Given the description of an element on the screen output the (x, y) to click on. 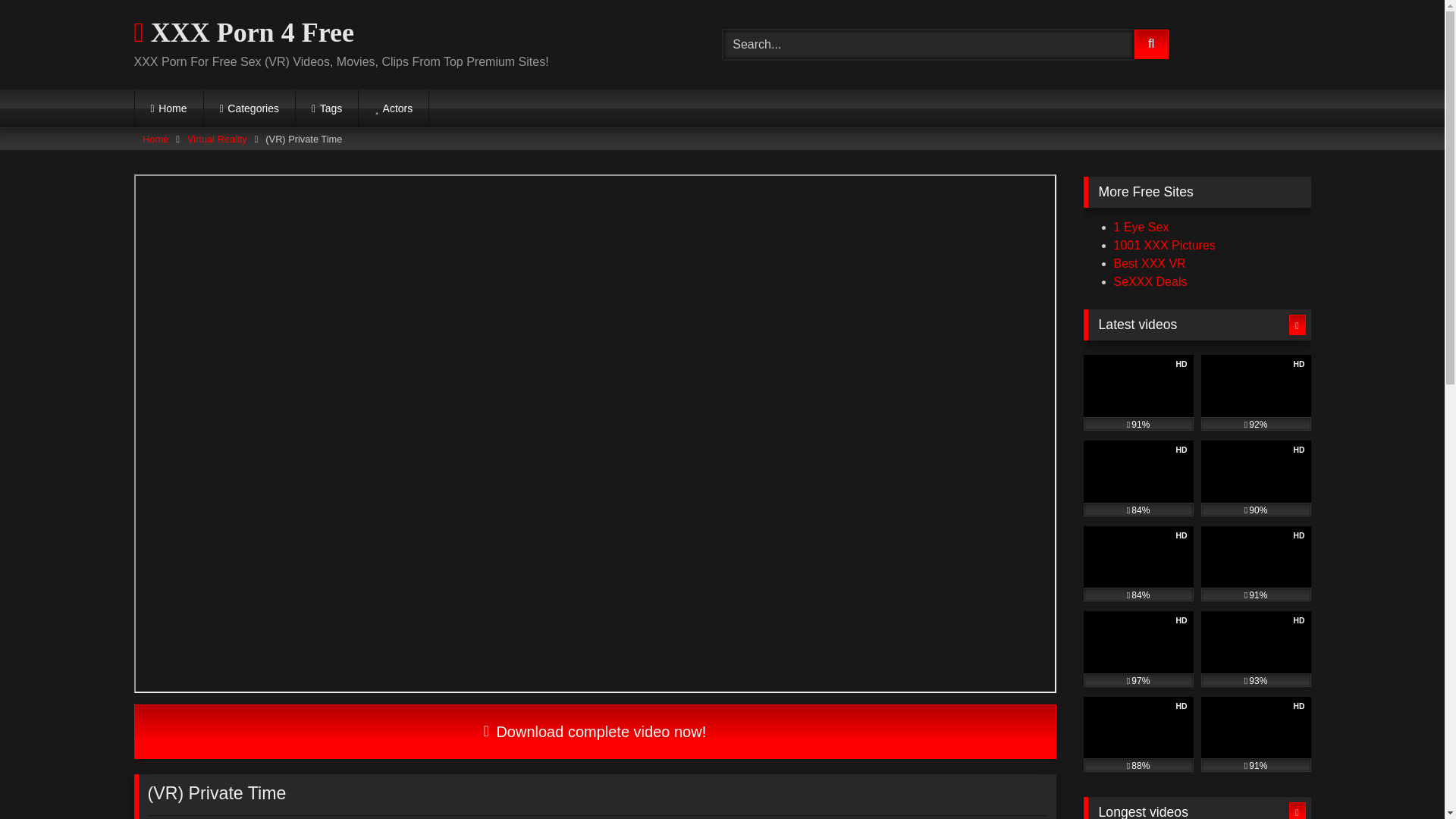
Search... (928, 44)
Categories (249, 108)
Actors (393, 108)
XXX Porn 4 Free (243, 32)
Home (155, 138)
Home (169, 108)
Tags (326, 108)
Download complete video now! (594, 731)
Virtual Reality (217, 138)
